Given the description of an element on the screen output the (x, y) to click on. 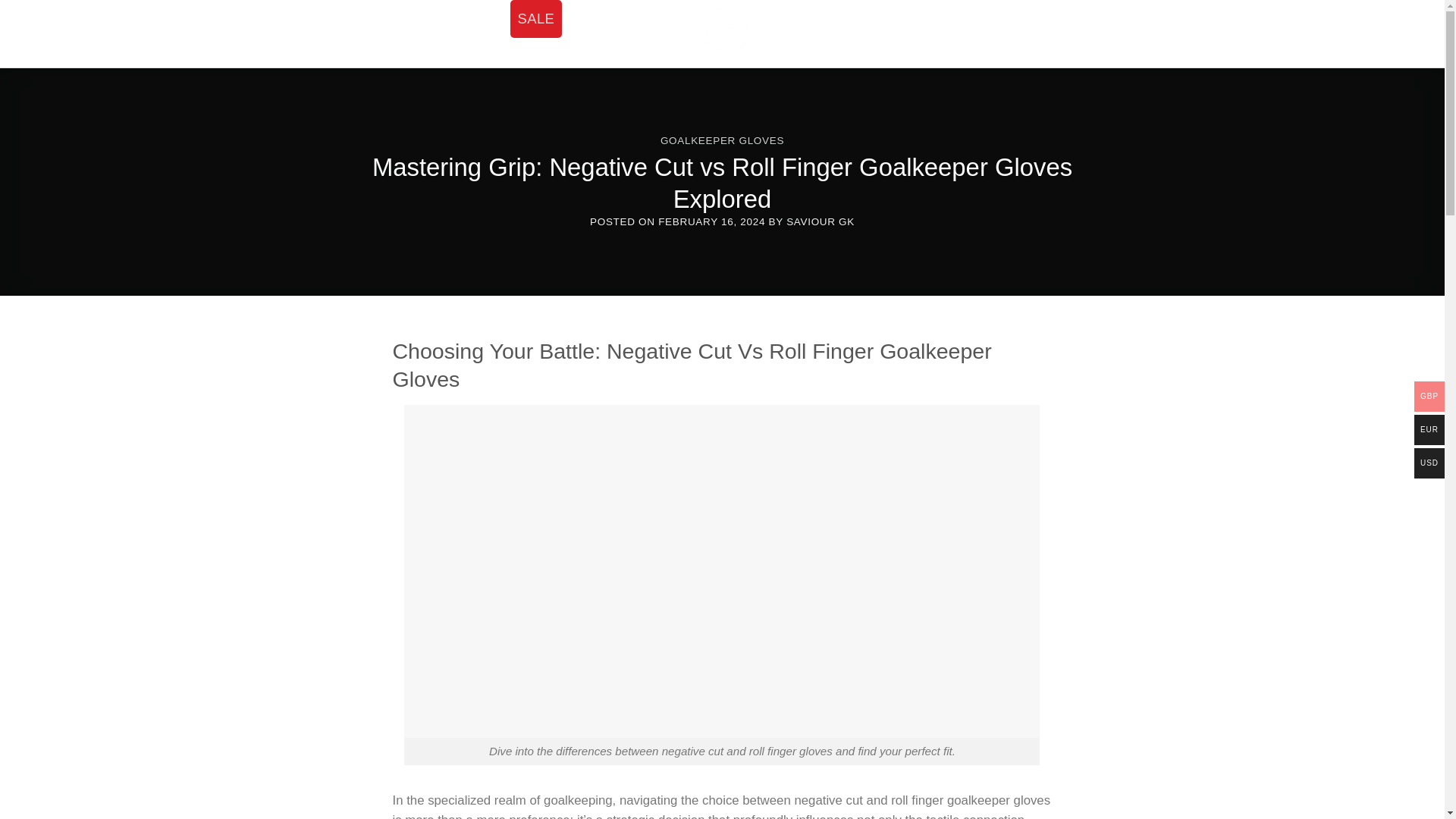
SALE (536, 18)
SAVIOUR GK - The Future of Goalkeeping (721, 33)
Sign up for Newsletter (961, 34)
FEBRUARY 16, 2024 (711, 221)
BLOG (881, 34)
SIGN-UP (961, 34)
SHOP (454, 18)
GOALKEEPER GLOVES (722, 140)
LEARN MORE (439, 56)
